Given the description of an element on the screen output the (x, y) to click on. 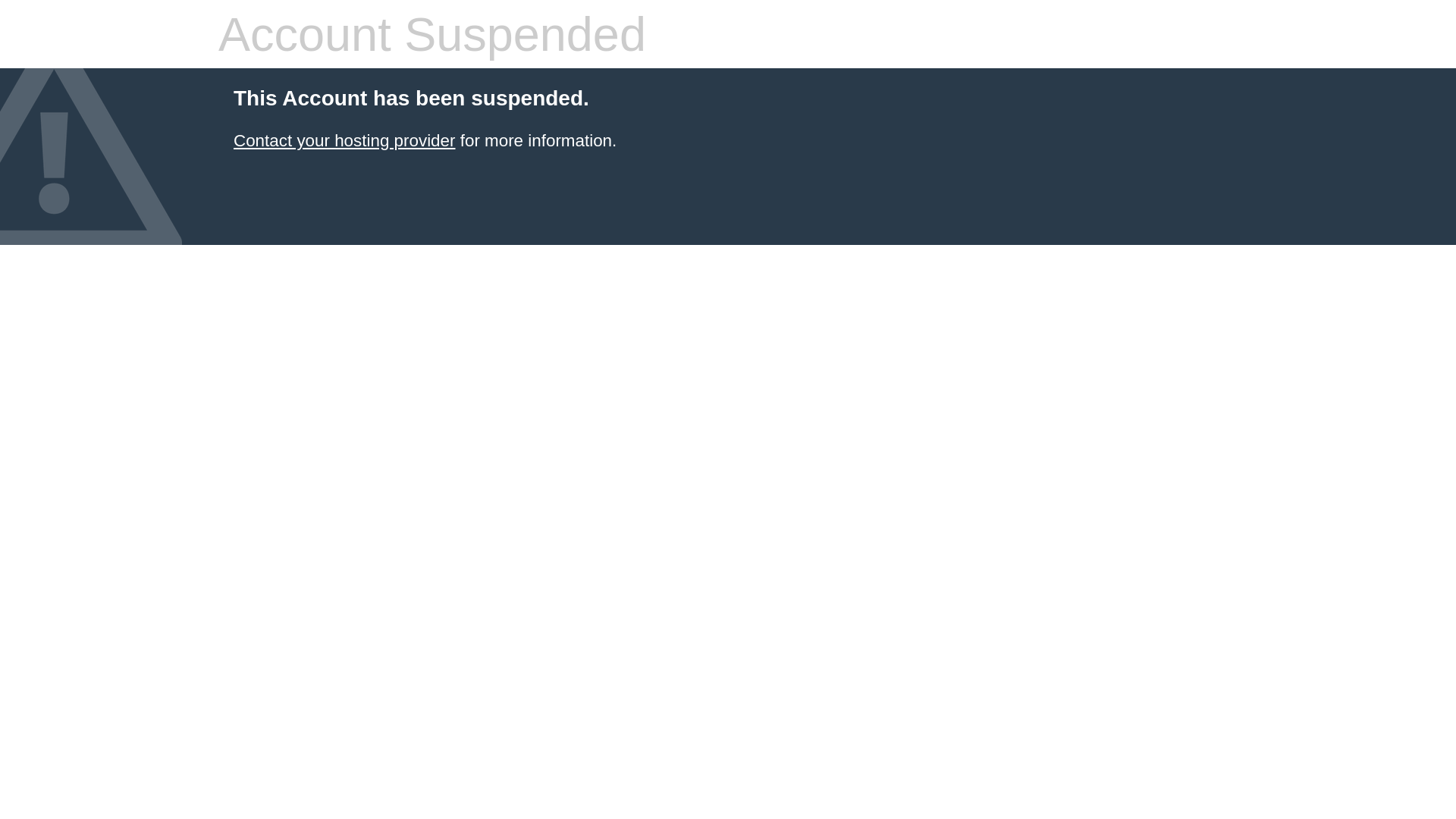
Contact your hosting provider Element type: text (344, 140)
